Given the description of an element on the screen output the (x, y) to click on. 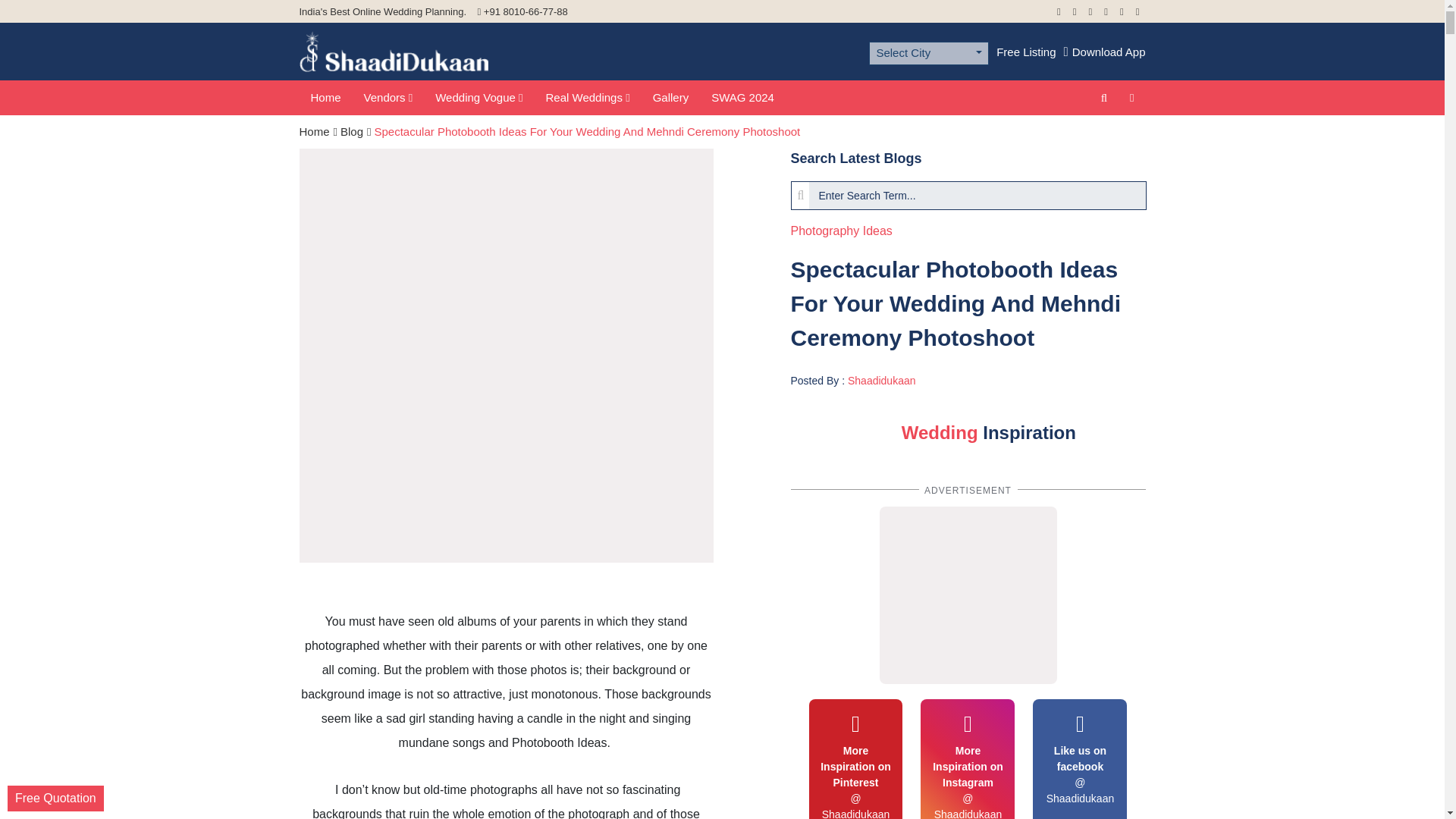
Vendors (388, 98)
Shaadidukaan (881, 380)
Select City (928, 53)
Download App (1104, 51)
Free Listing (1025, 51)
Home (325, 98)
